Given the description of an element on the screen output the (x, y) to click on. 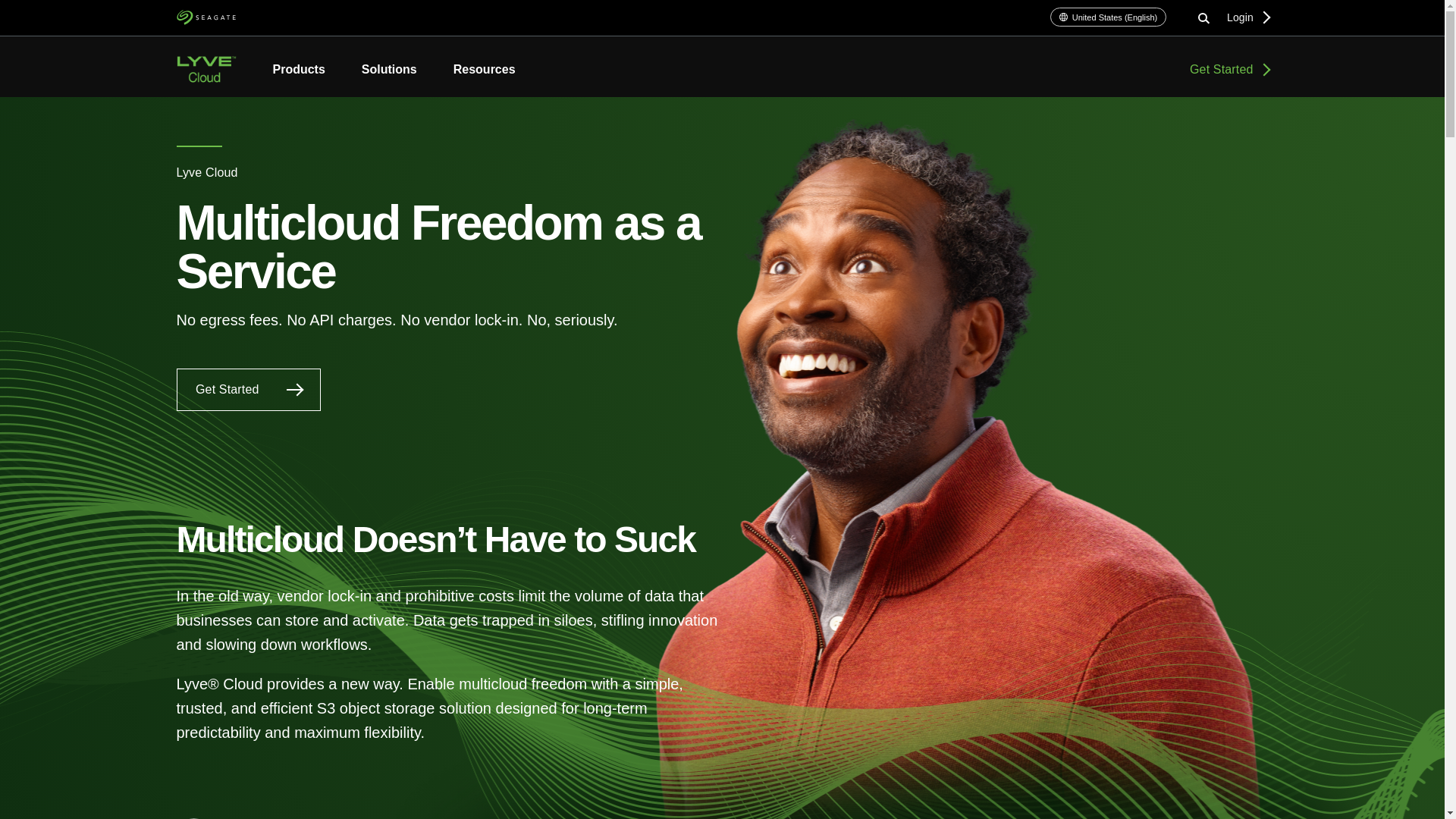
Solutions (389, 69)
Get Started (1228, 68)
Resources (475, 69)
Login (1247, 17)
Products (298, 69)
